Given the description of an element on the screen output the (x, y) to click on. 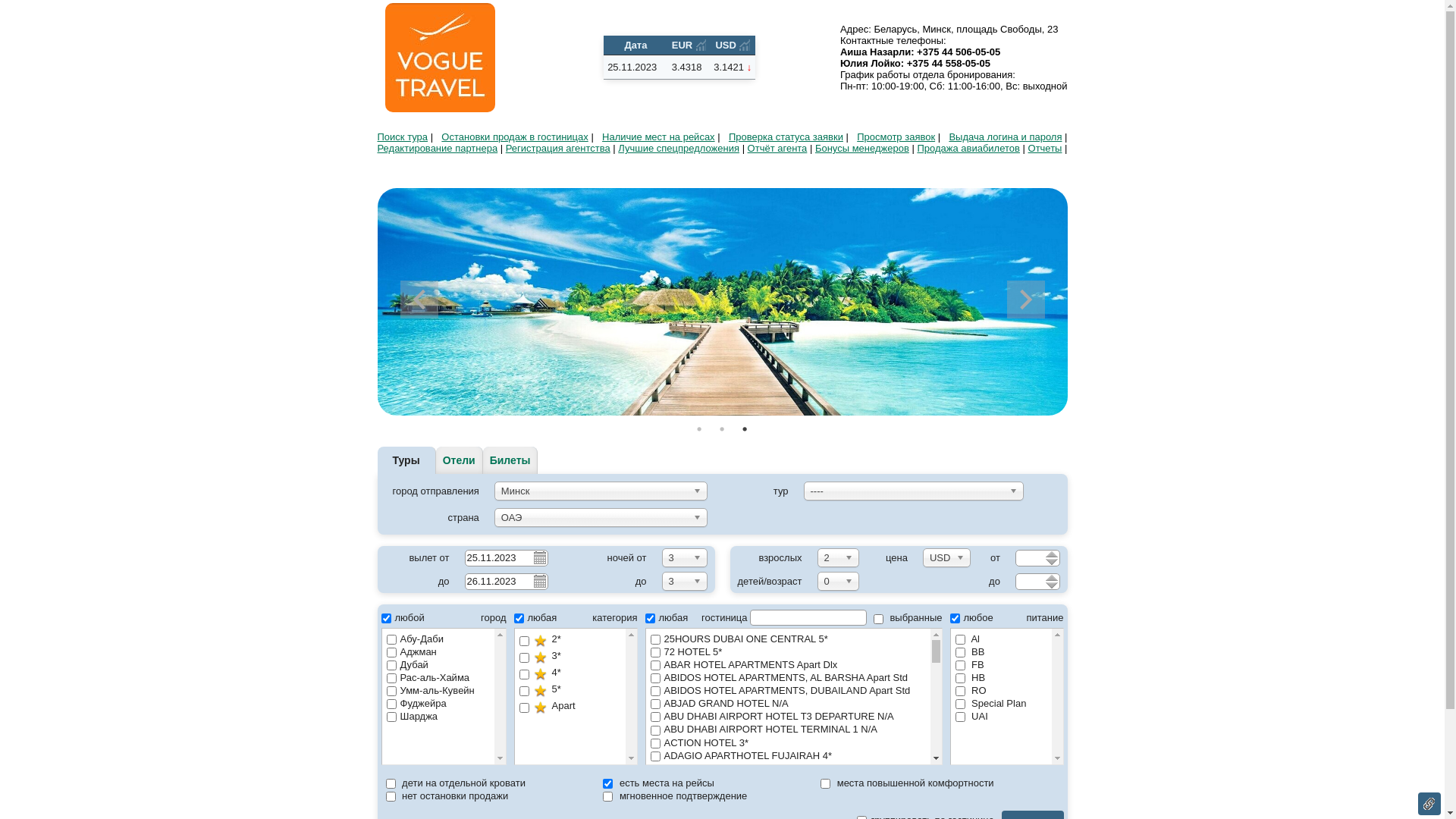
USD Element type: text (946, 557)
1 Element type: text (698, 428)
3 Element type: text (683, 580)
Pick a date Element type: text (539, 579)
Pick a date Element type: text (539, 557)
2 Element type: text (838, 557)
---- Element type: text (913, 490)
2 Element type: text (721, 428)
0 Element type: text (838, 580)
3 Element type: text (683, 557)
3 Element type: text (744, 428)
